Given the description of an element on the screen output the (x, y) to click on. 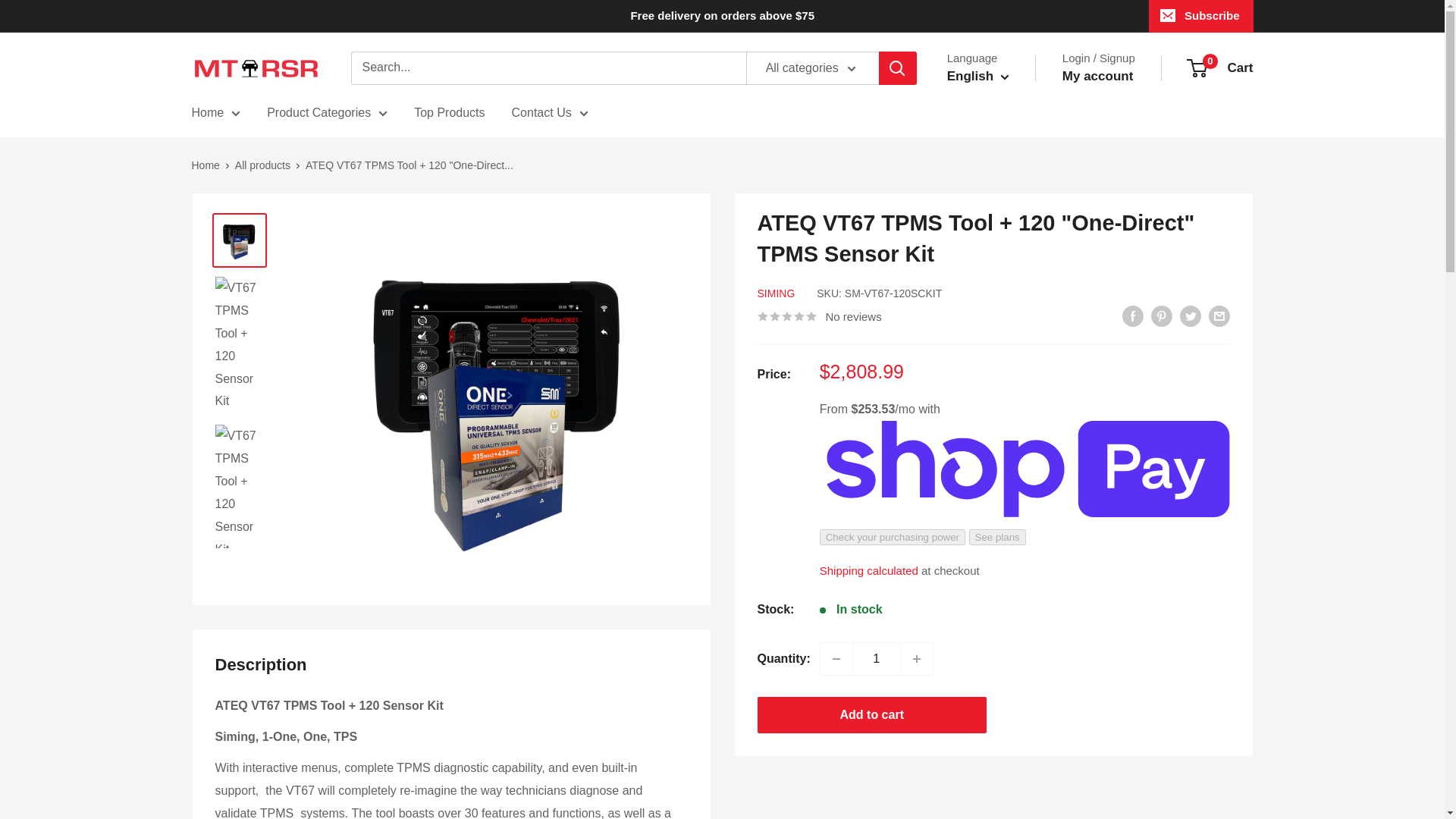
Increase quantity by 1 (917, 658)
1 (876, 658)
Subscribe (1200, 15)
Decrease quantity by 1 (836, 658)
